Given the description of an element on the screen output the (x, y) to click on. 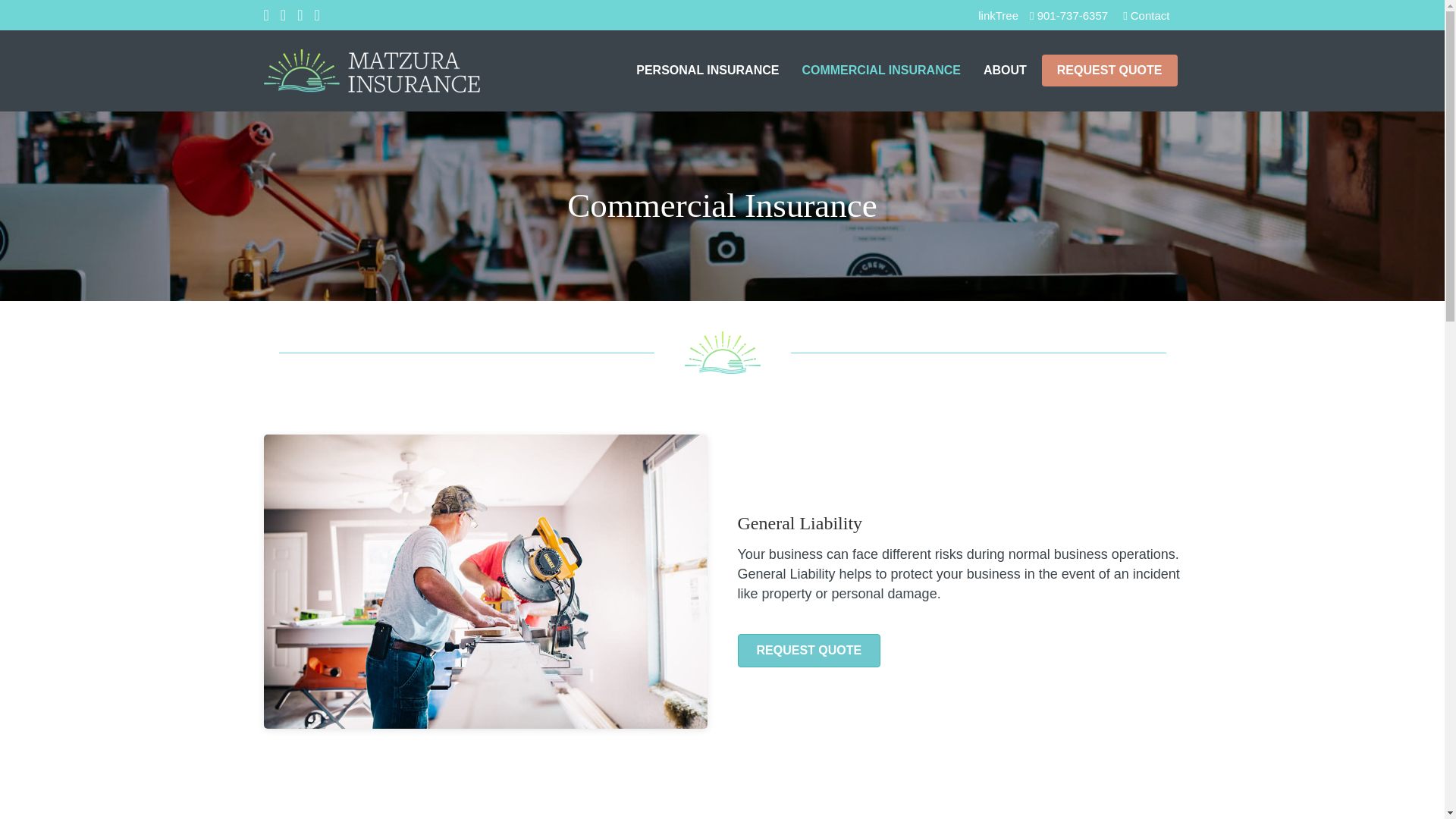
Contractors-Liability (485, 581)
Contact (1145, 15)
PERSONAL INSURANCE (707, 70)
REQUEST QUOTE (808, 650)
REQUEST QUOTE (1109, 70)
ABOUT (1004, 70)
COMMERCIAL INSURANCE (880, 70)
901-737-6357 (1068, 15)
Matzura Insurance White Logo - Horizontal (371, 70)
linkTree (997, 15)
